Given the description of an element on the screen output the (x, y) to click on. 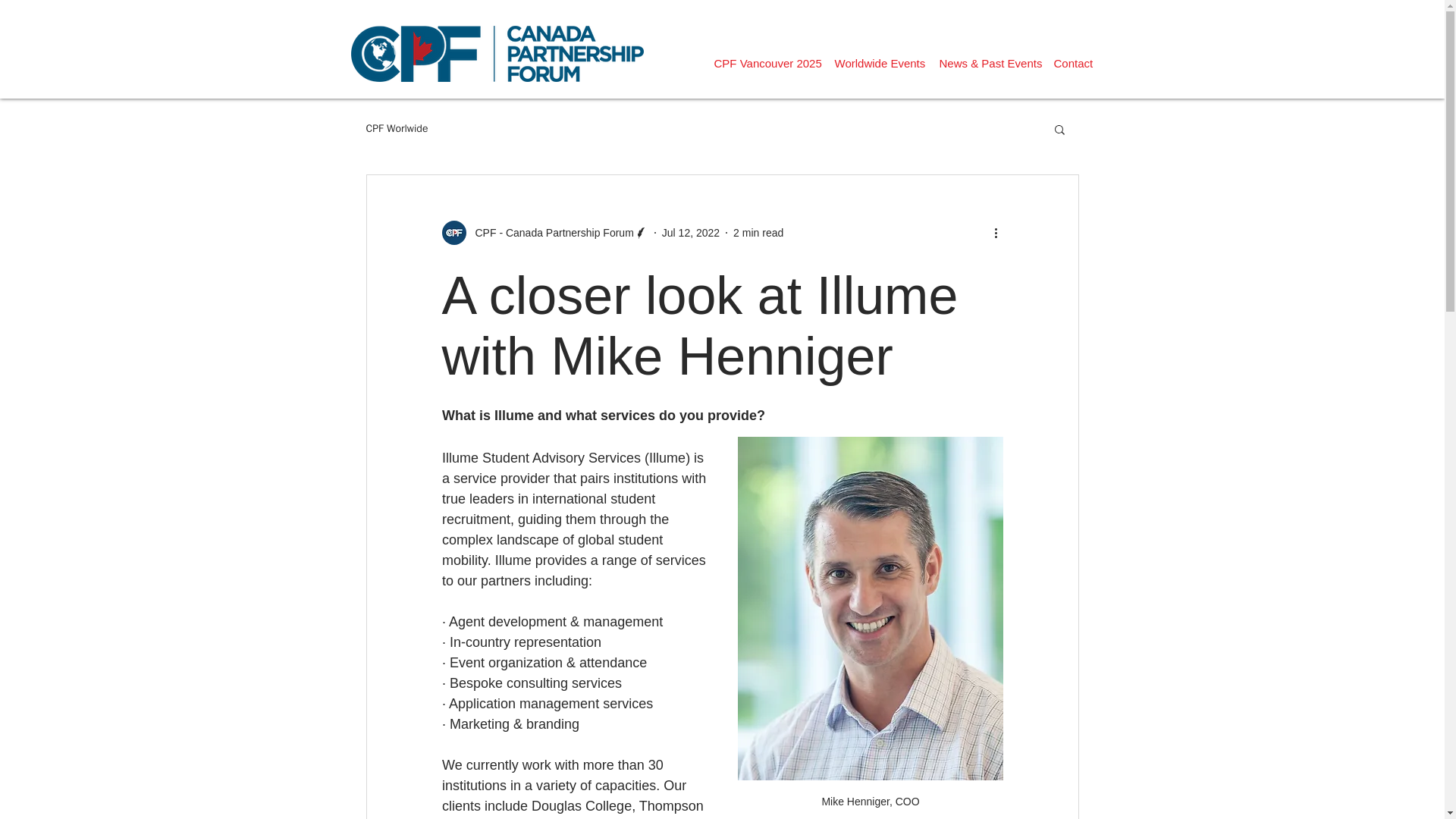
CPF Worlwide (396, 128)
2 min read (758, 232)
Contact (1073, 63)
CPF - Canada Partnership Forum (549, 232)
Worldwide Events (879, 63)
Jul 12, 2022 (690, 232)
CPF Vancouver 2025 (766, 63)
CPF - Canada Partnership Forum (544, 232)
